Given the description of an element on the screen output the (x, y) to click on. 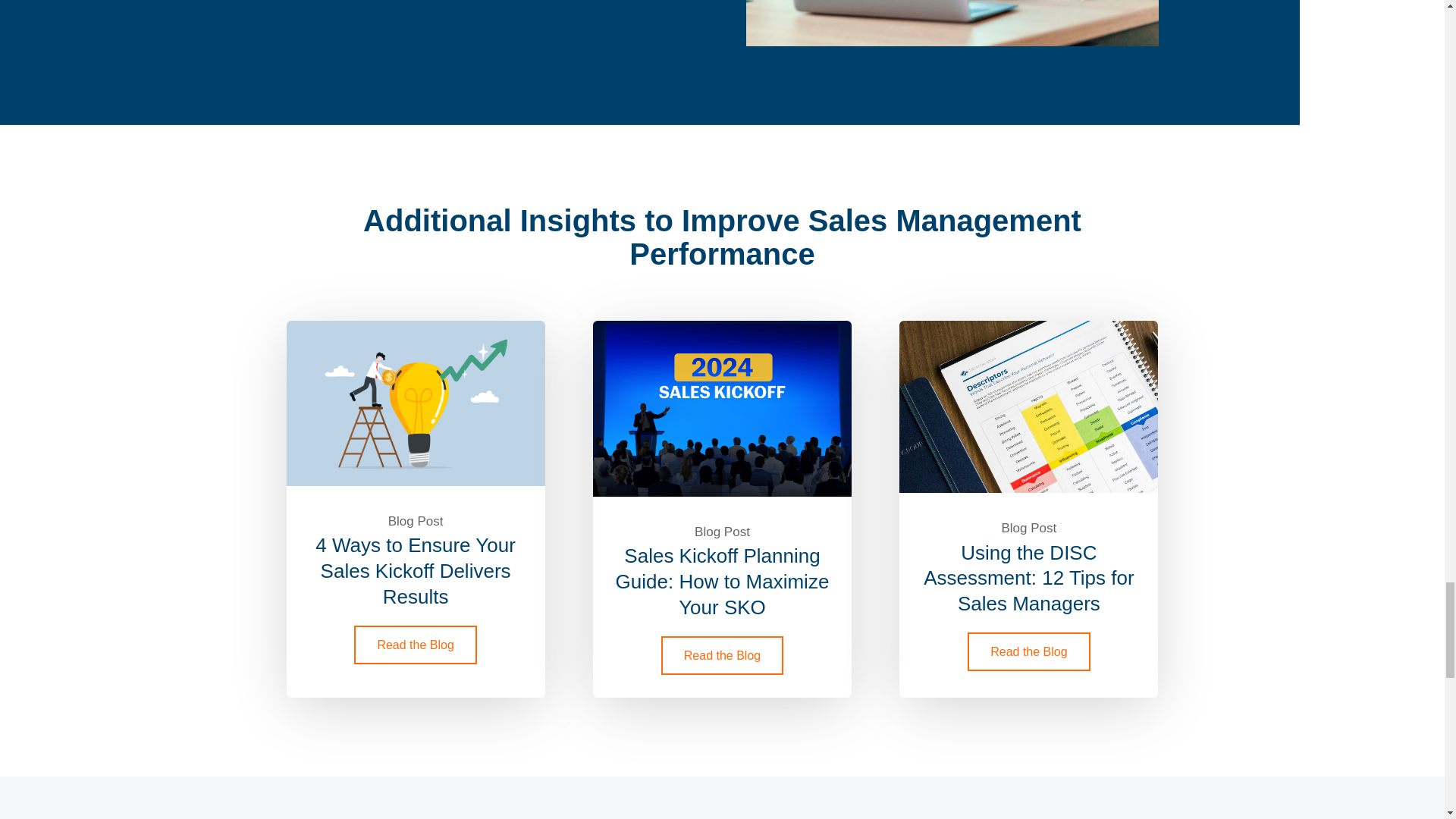
They're staying ahead of the game with their ideas (951, 22)
The Brooks Group Sales Assessments (1028, 407)
sales kickoff (415, 403)
Sales Kickoff (721, 408)
